Given the description of an element on the screen output the (x, y) to click on. 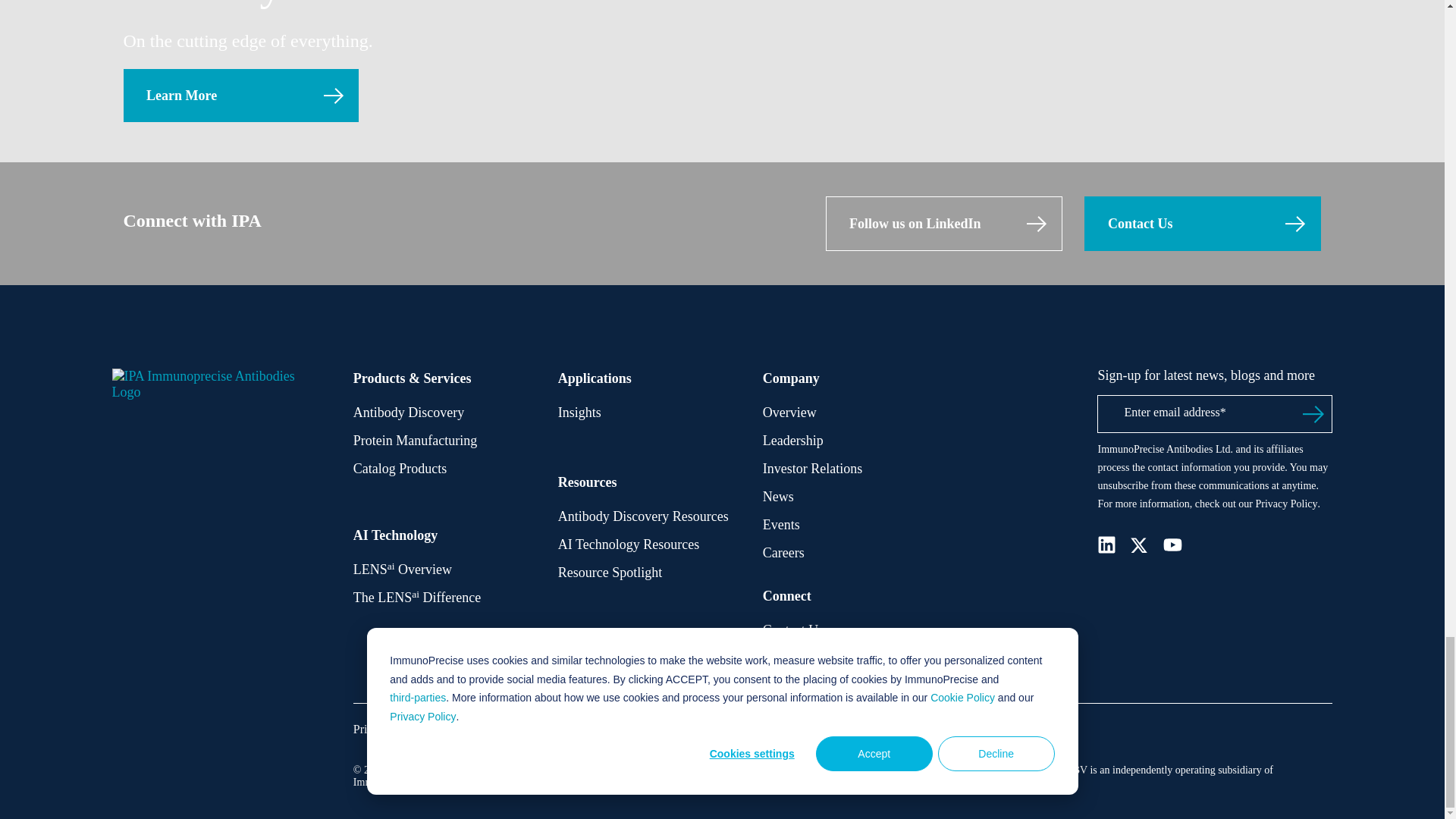
Submit (1313, 413)
